Given the description of an element on the screen output the (x, y) to click on. 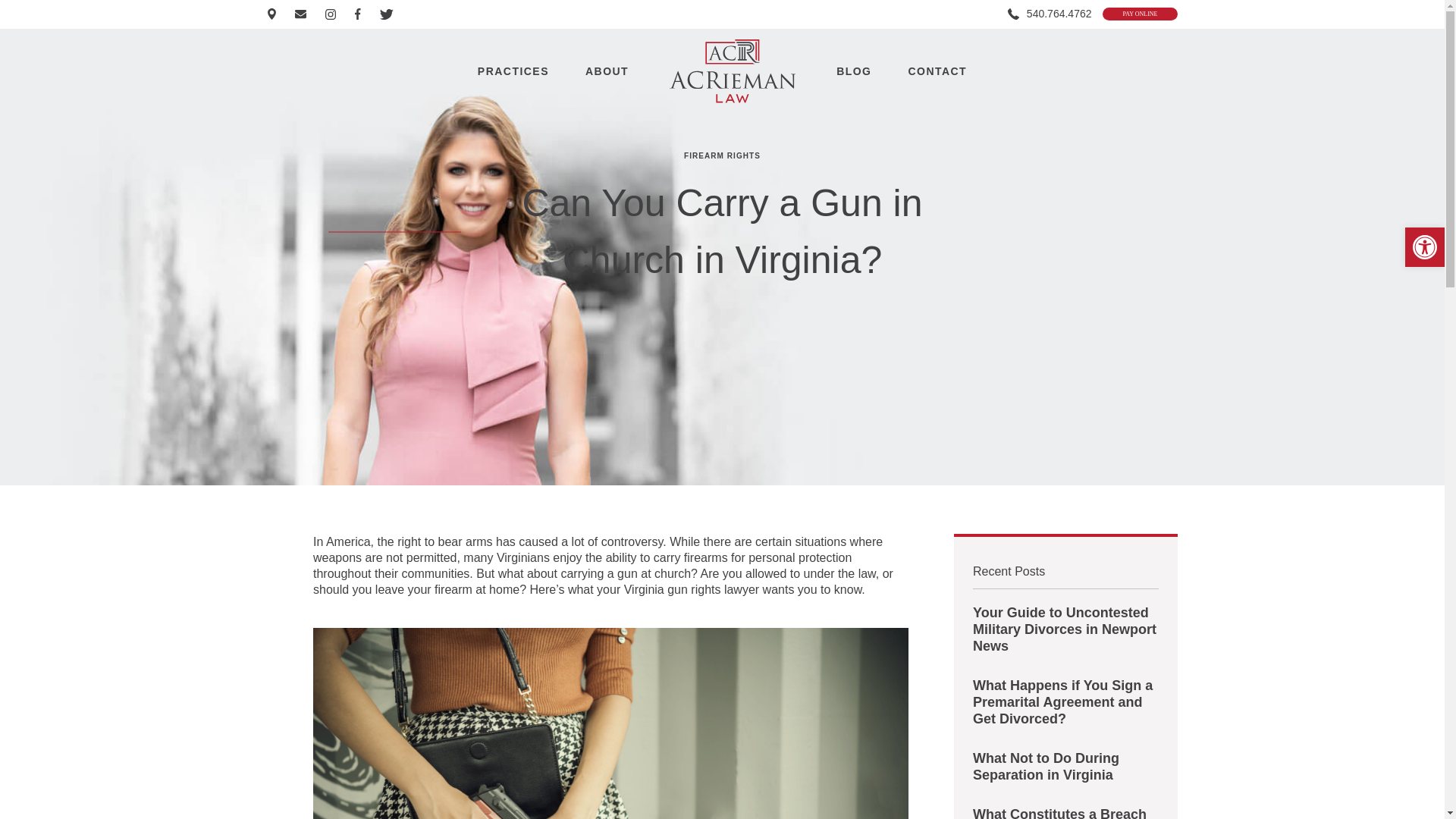
540.764.4762 (1049, 13)
FIREARM RIGHTS (722, 155)
PRACTICES (512, 70)
BLOG (852, 70)
Accessibility Tools (1424, 247)
ABOUT (606, 70)
PAY ONLINE (1139, 13)
Your Guide to Uncontested Military Divorces in Newport News (1064, 629)
gun rights (693, 589)
CONTACT (936, 70)
What Not to Do During Separation in Virginia (1064, 766)
What Constitutes a Breach of Contract in Virginia? (1064, 812)
